Given the description of an element on the screen output the (x, y) to click on. 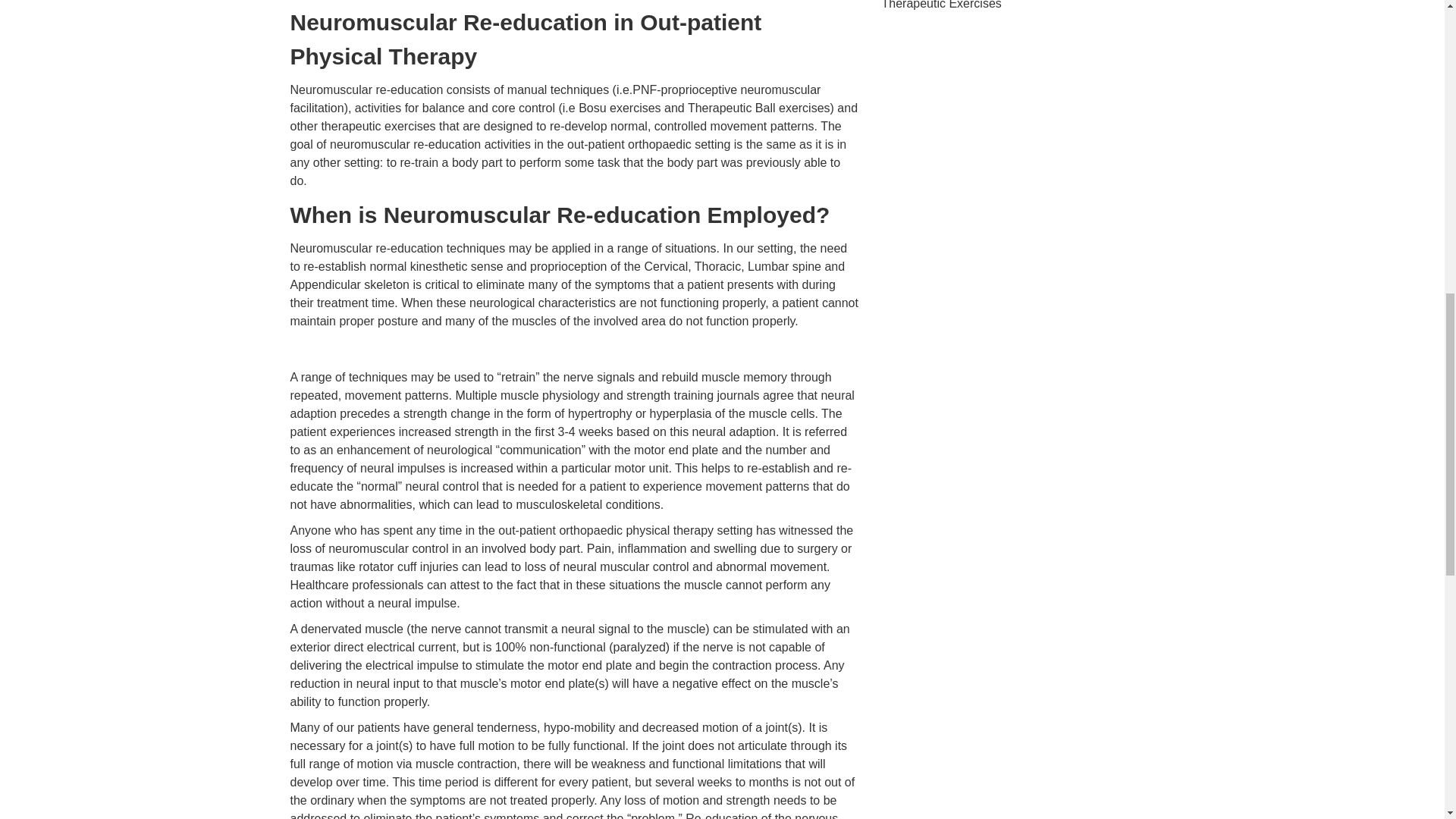
Therapeutic Exercises (940, 4)
